Given the description of an element on the screen output the (x, y) to click on. 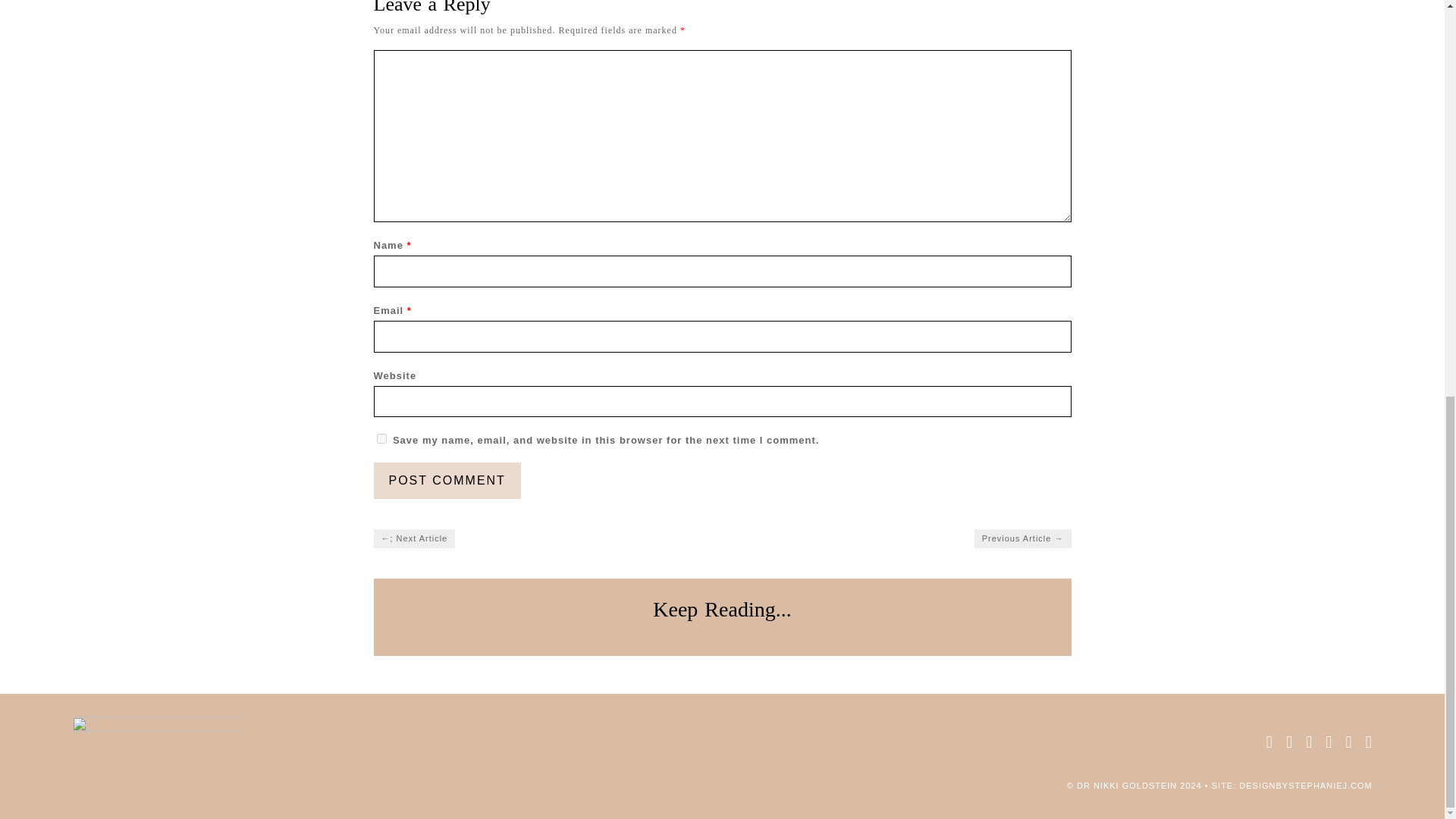
DESIGNBYSTEPHANIEJ.COM (1305, 785)
yes (380, 438)
Post Comment (445, 480)
Post Comment (445, 480)
